Given the description of an element on the screen output the (x, y) to click on. 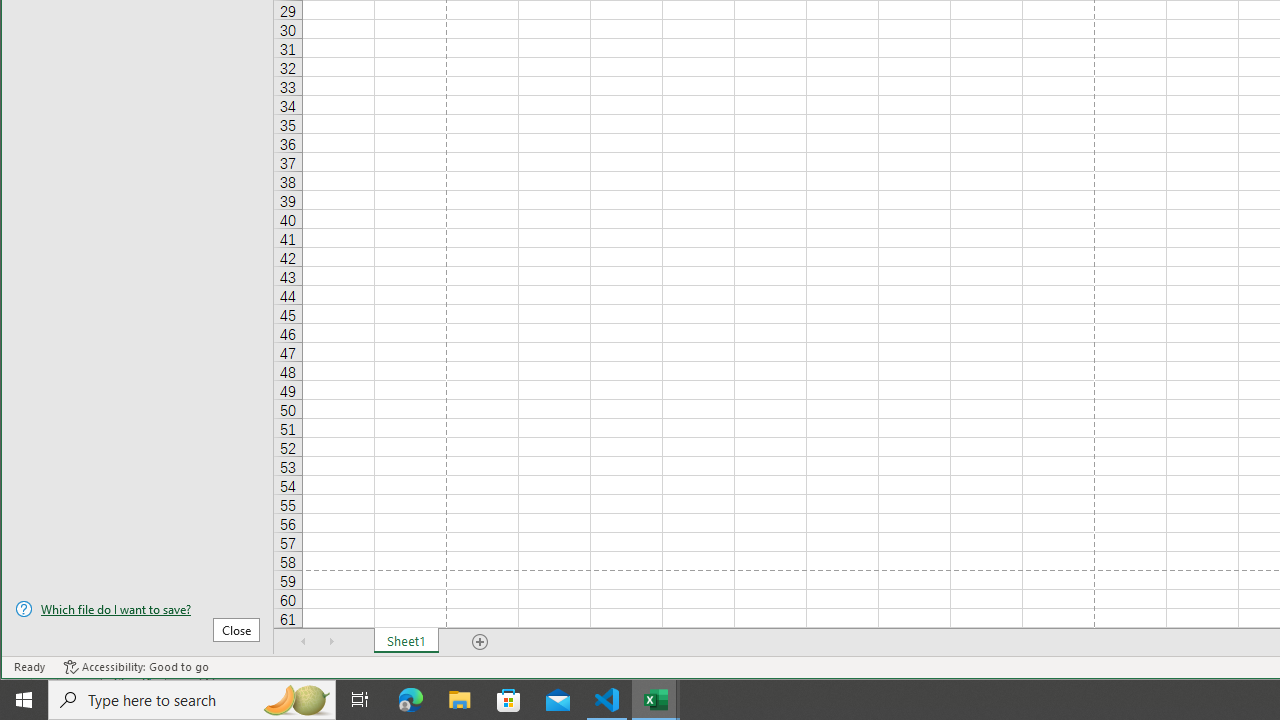
Visual Studio Code - 1 running window (607, 699)
